Given the description of an element on the screen output the (x, y) to click on. 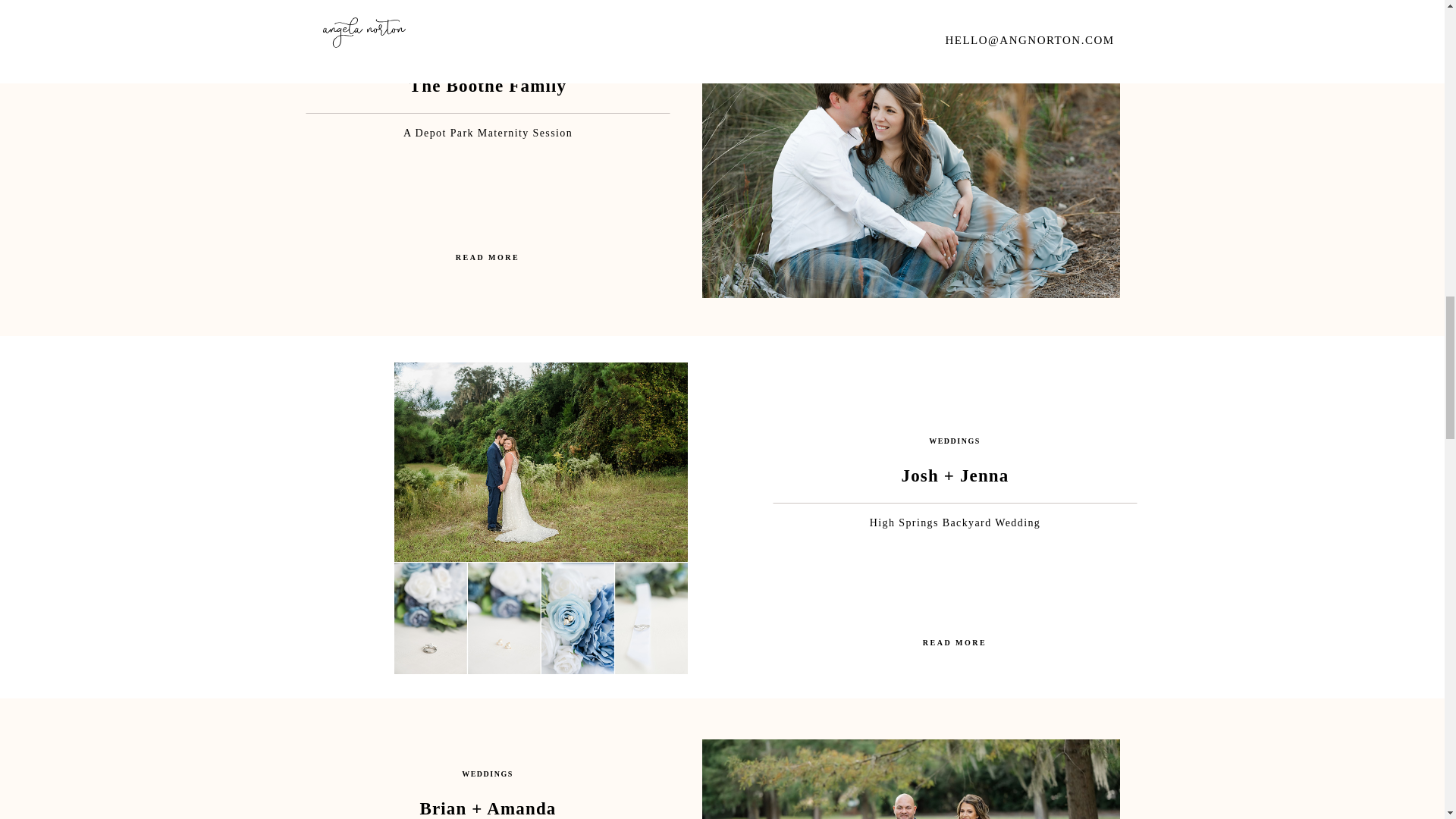
The Boothe Family (486, 259)
The Boothe Family (910, 156)
